Given the description of an element on the screen output the (x, y) to click on. 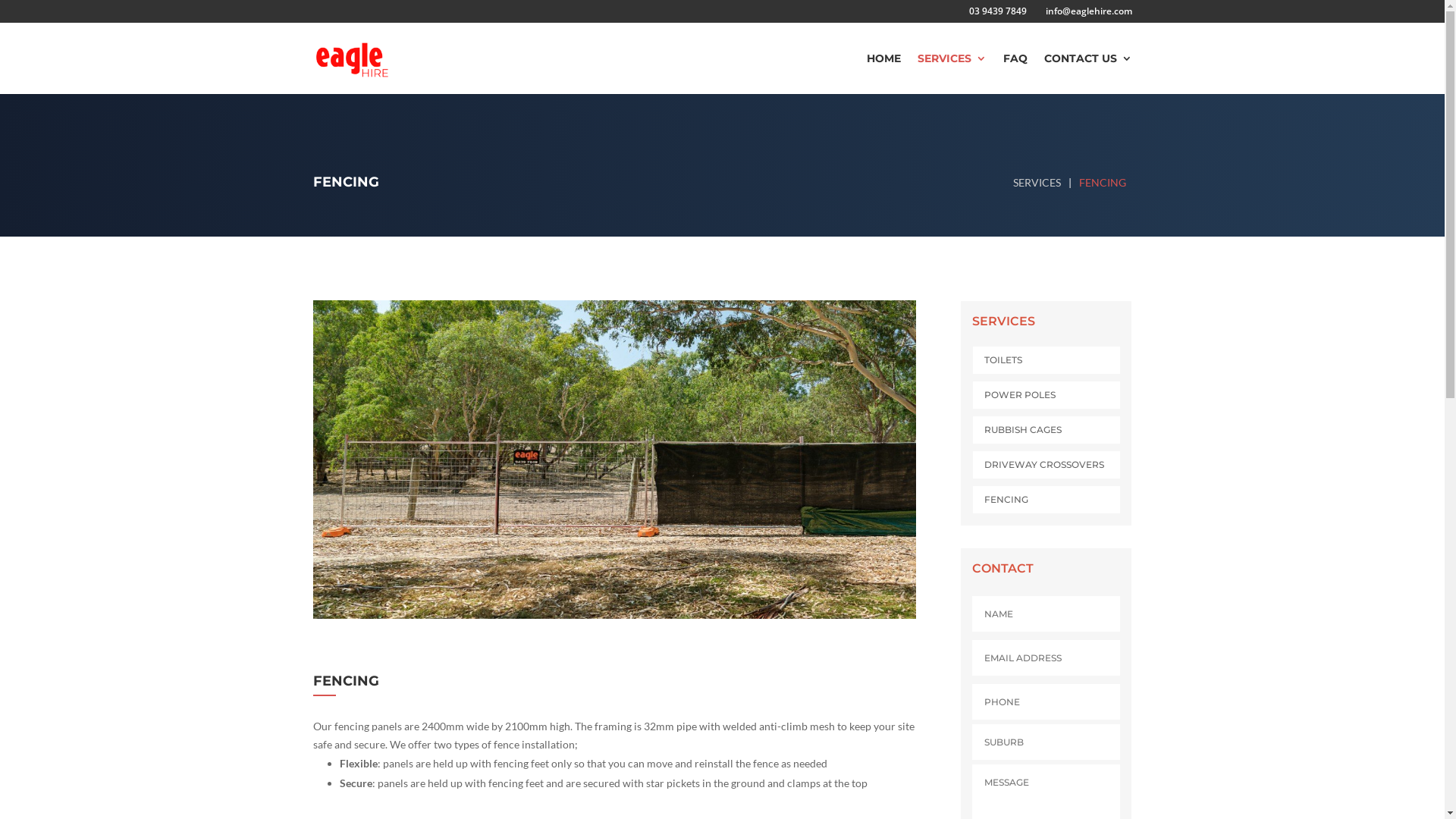
FENCING Element type: text (1006, 499)
03 9439 7849 Element type: text (993, 14)
info@eaglehire.com Element type: text (1084, 14)
DRIVEWAY CROSSOVERS Element type: text (1044, 464)
HOME Element type: text (883, 73)
POWER POLES Element type: text (1019, 394)
RUBBISH CAGES Element type: text (1022, 429)
TOILETS Element type: text (1003, 359)
SERVICES Element type: text (951, 73)
FAQ Element type: text (1014, 73)
CONTACT US Element type: text (1087, 73)
